Given the description of an element on the screen output the (x, y) to click on. 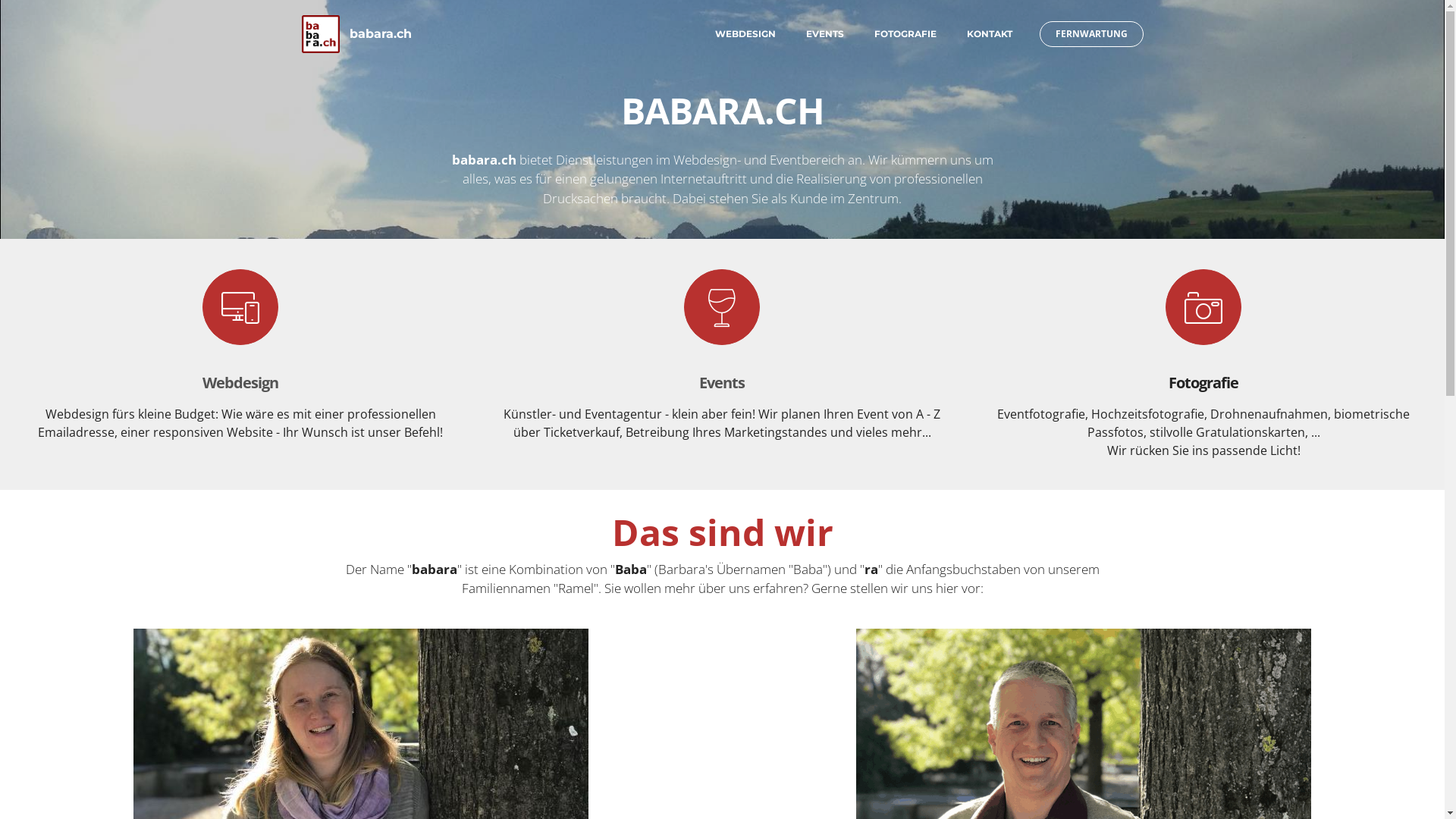
EVENTS Element type: text (824, 33)
FOTOGRAFIE Element type: text (904, 33)
Events Element type: text (721, 382)
Webdesign Element type: text (240, 382)
KONTAKT Element type: text (988, 33)
babara.ch Element type: text (380, 34)
FERNWARTUNG Element type: text (1090, 34)
WEBDESIGN Element type: text (744, 33)
